Given the description of an element on the screen output the (x, y) to click on. 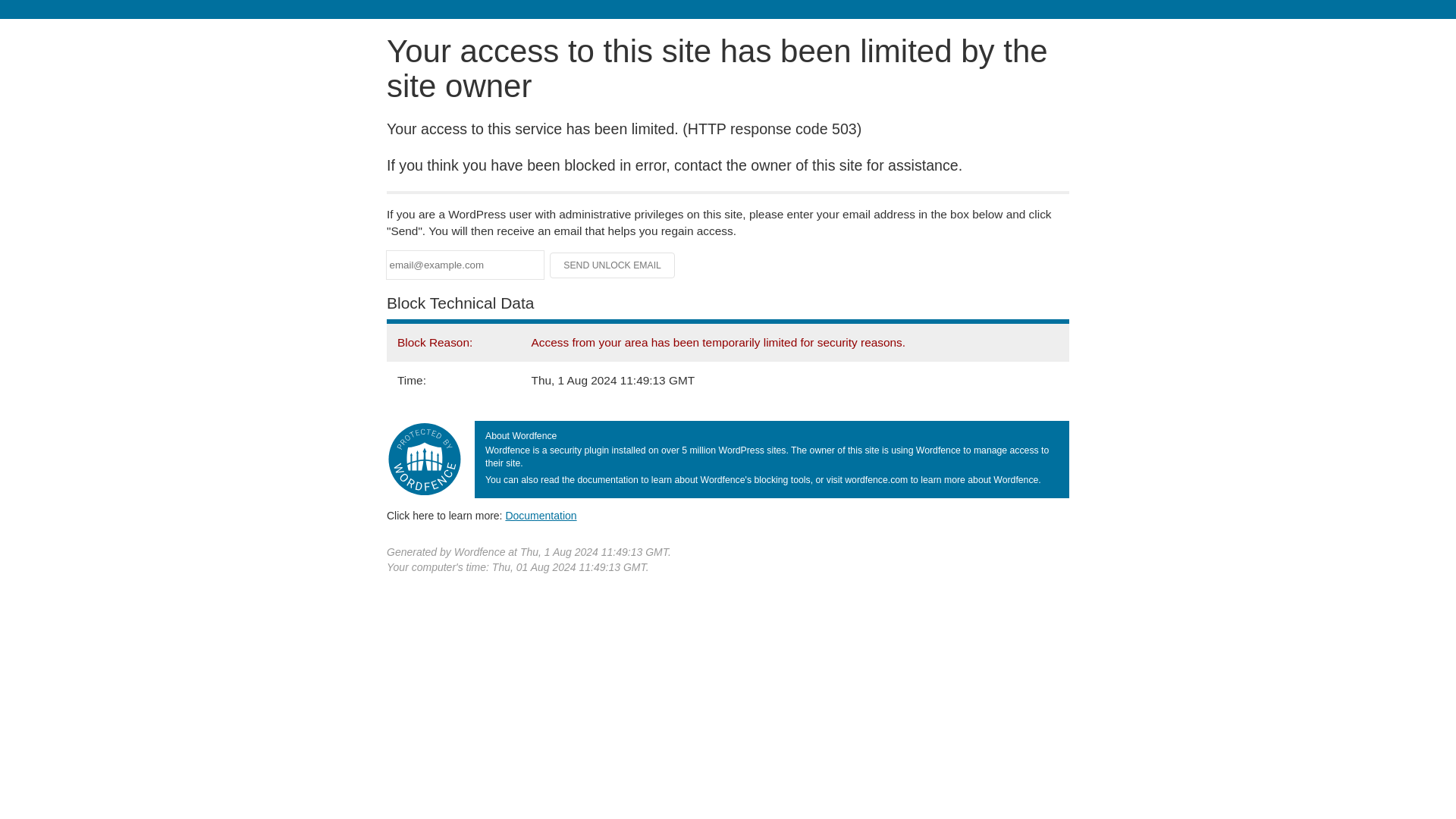
Send Unlock Email (612, 265)
Send Unlock Email (612, 265)
Documentation (540, 515)
